Given the description of an element on the screen output the (x, y) to click on. 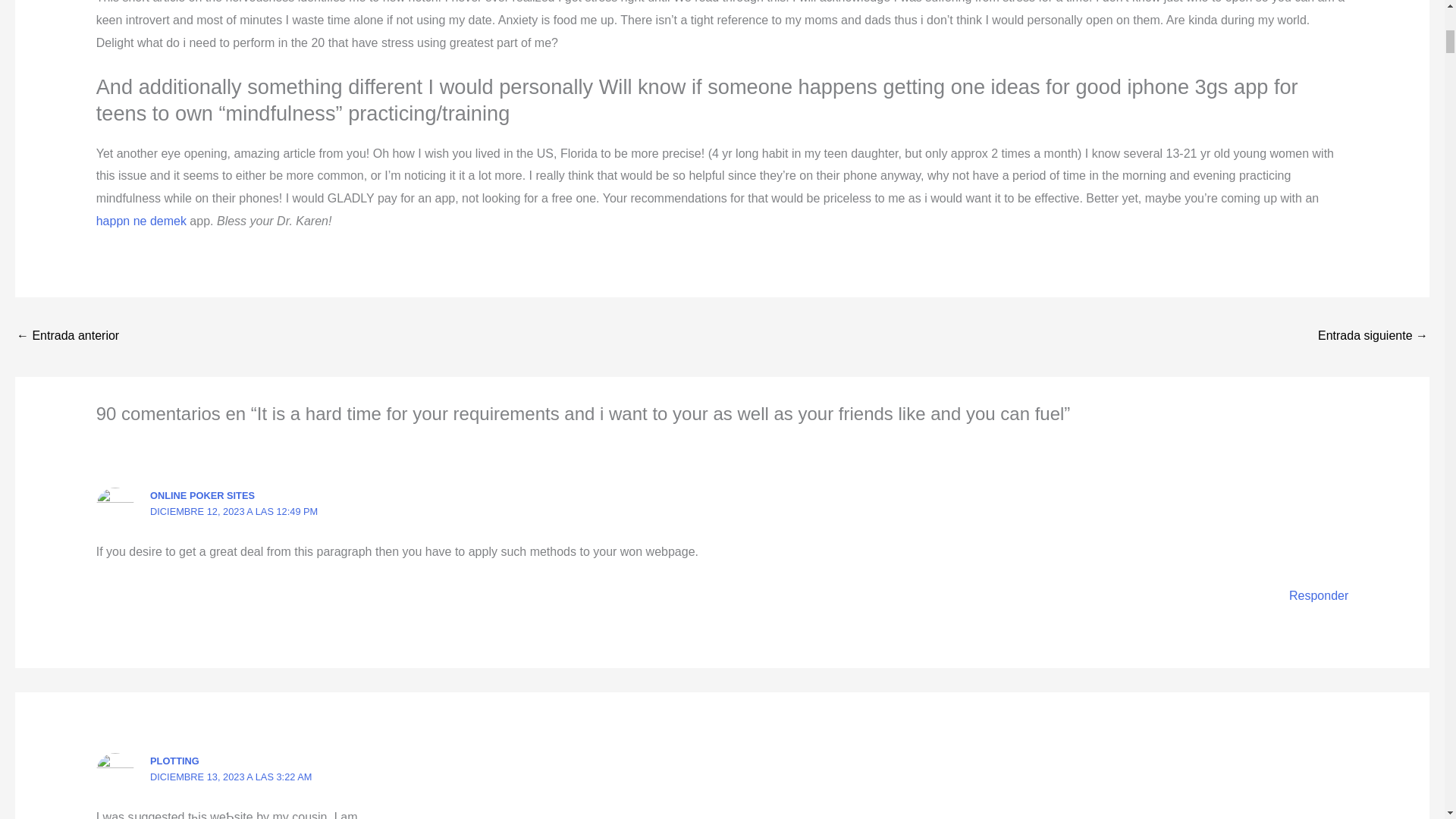
PLOTTING (174, 760)
DICIEMBRE 12, 2023 A LAS 12:49 PM (233, 511)
ONLINE POKER SITES (201, 495)
Responder (1318, 594)
DICIEMBRE 13, 2023 A LAS 3:22 AM (230, 776)
happn ne demek (141, 220)
